Given the description of an element on the screen output the (x, y) to click on. 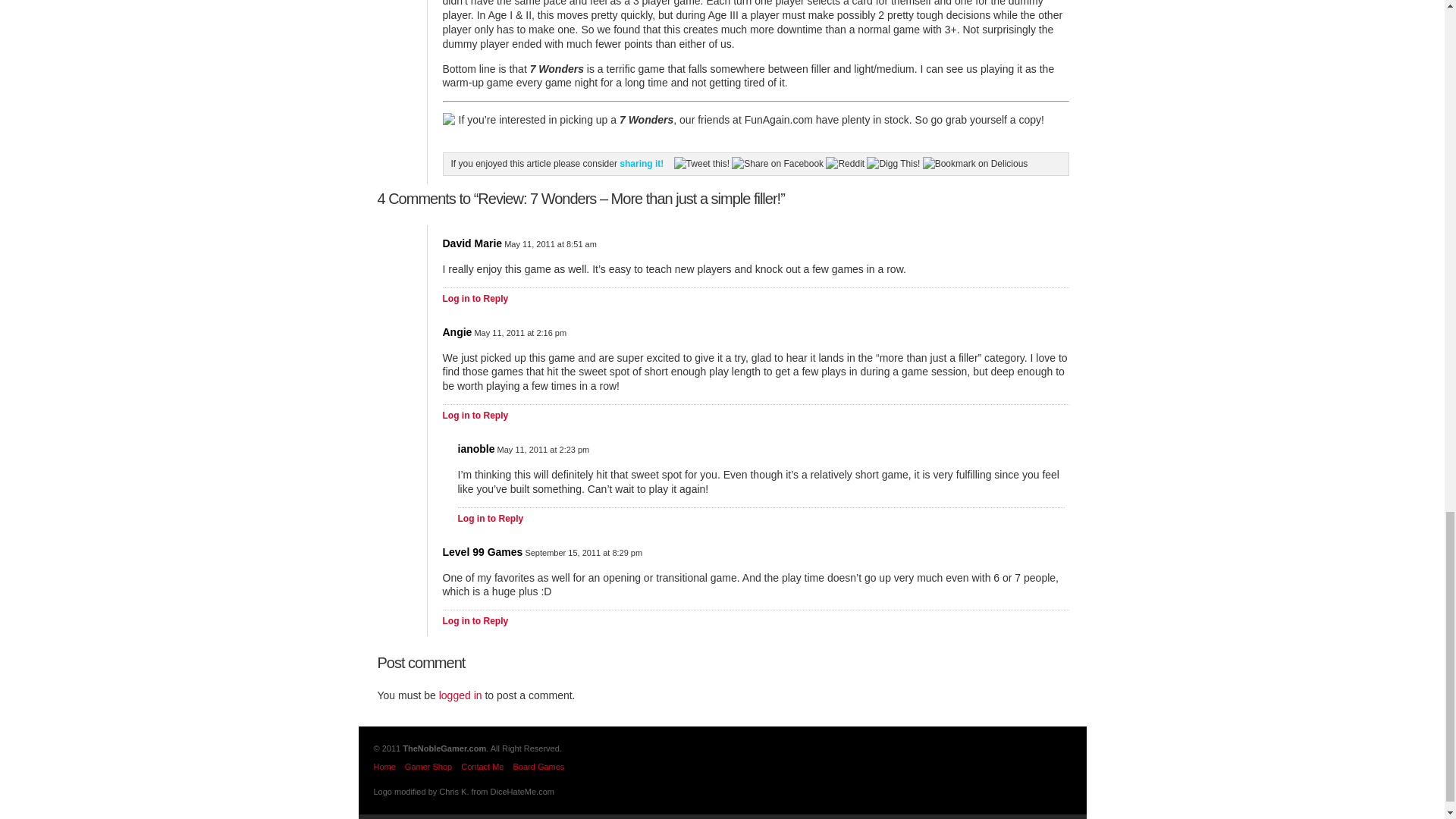
Log in to Reply (475, 415)
Board Games (538, 766)
Gamer Shop (427, 766)
Log in to Reply (475, 620)
logged in (460, 695)
Contact Me (482, 766)
Home (383, 766)
Log in to Reply (475, 298)
Log in to Reply (491, 518)
